Given the description of an element on the screen output the (x, y) to click on. 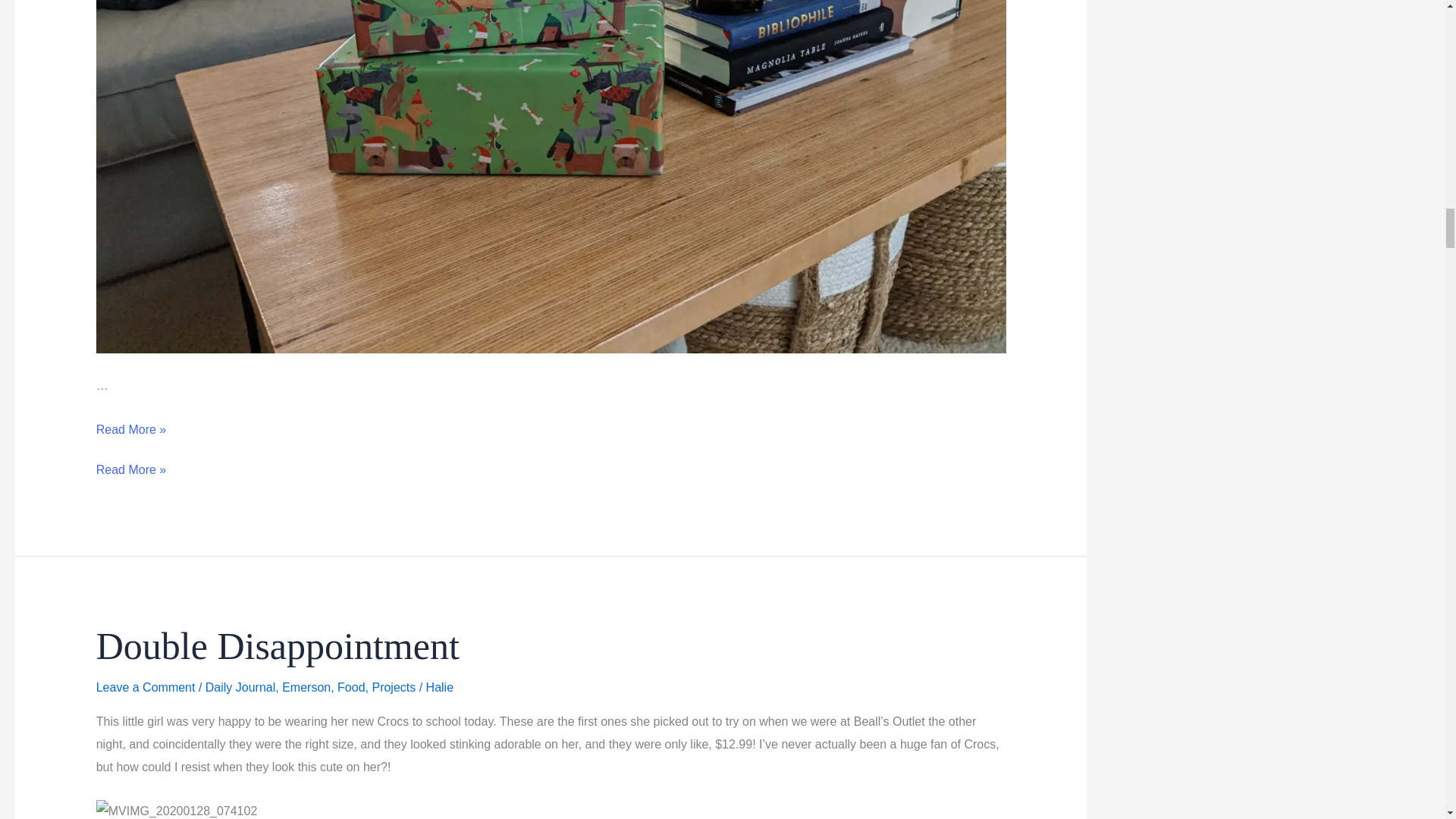
Double Disappointment (278, 645)
Daily Journal (240, 686)
Leave a Comment (145, 686)
View all posts by Halie (439, 686)
